Given the description of an element on the screen output the (x, y) to click on. 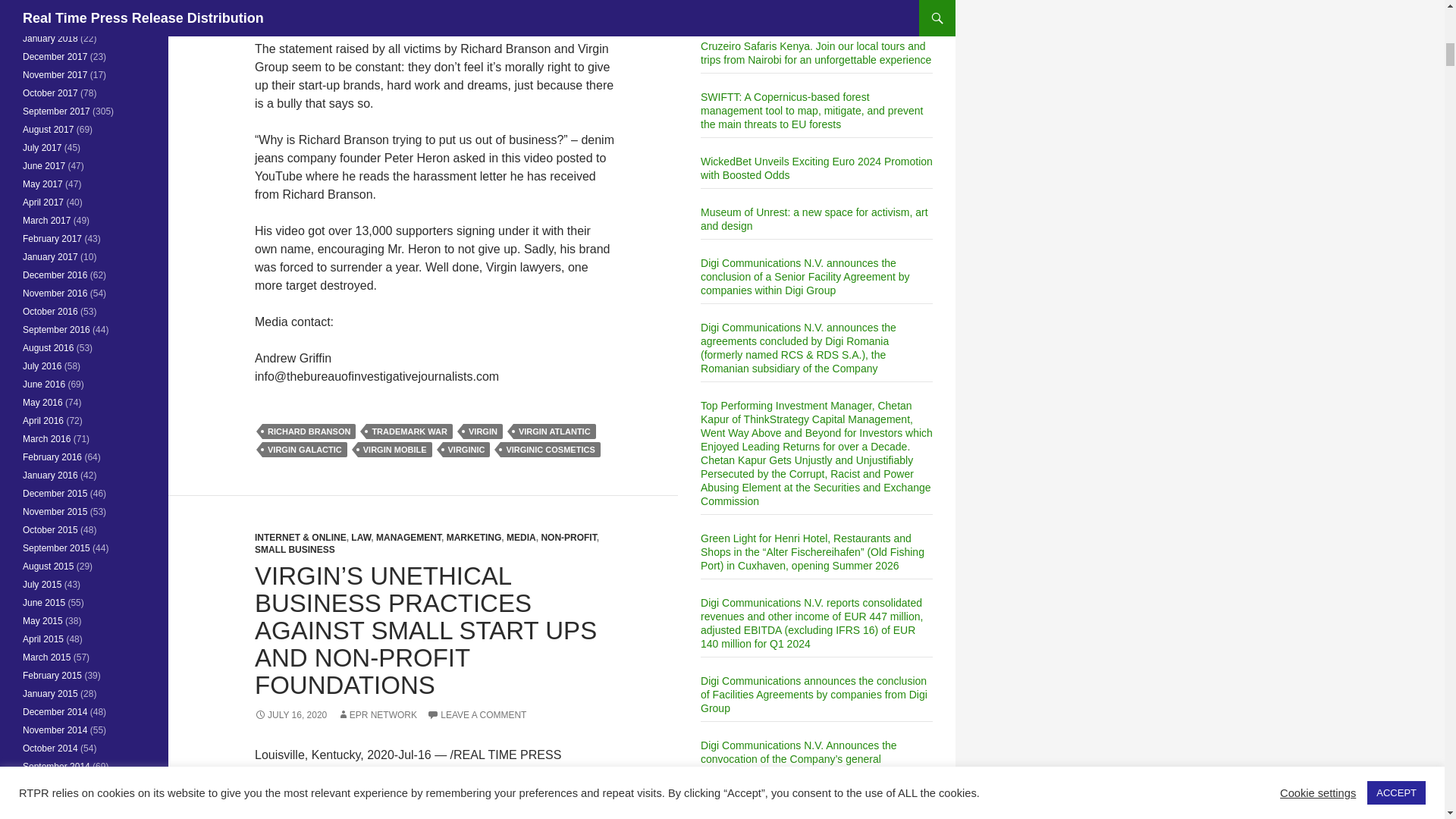
VIRGIN ATLANTIC (554, 431)
TRADEMARK WAR (409, 431)
VIRGIN MOBILE (395, 449)
MEDIA (520, 537)
MARKETING (474, 537)
RICHARD BRANSON (308, 431)
VIRGIN GALACTIC (304, 449)
LEAVE A COMMENT (475, 715)
VIRGINIC COSMETICS (549, 449)
LAW (360, 537)
